Given the description of an element on the screen output the (x, y) to click on. 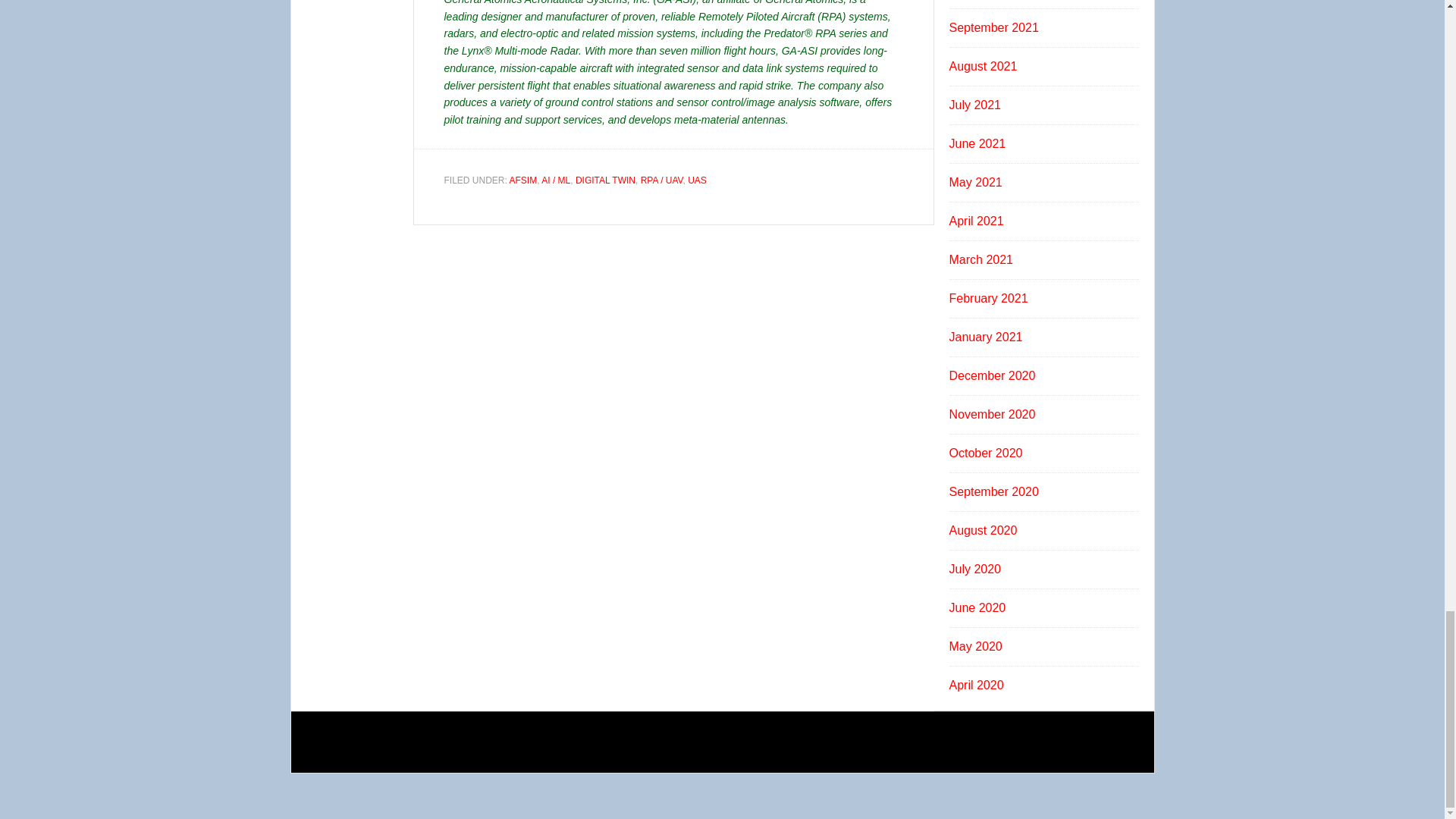
DIGITAL TWIN (604, 180)
AFSIM (523, 180)
UAS (696, 180)
